Given the description of an element on the screen output the (x, y) to click on. 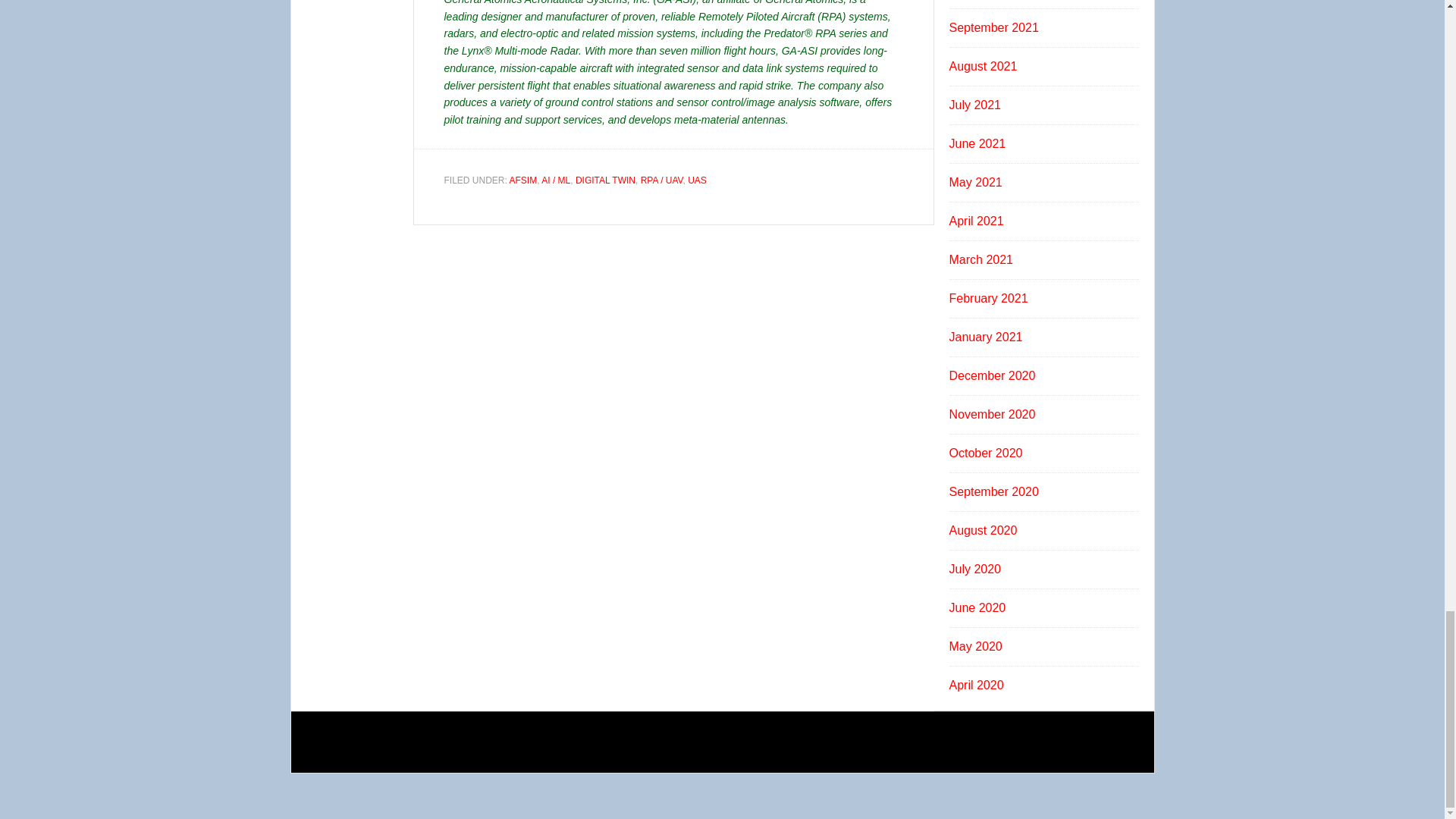
DIGITAL TWIN (604, 180)
AFSIM (523, 180)
UAS (696, 180)
